Given the description of an element on the screen output the (x, y) to click on. 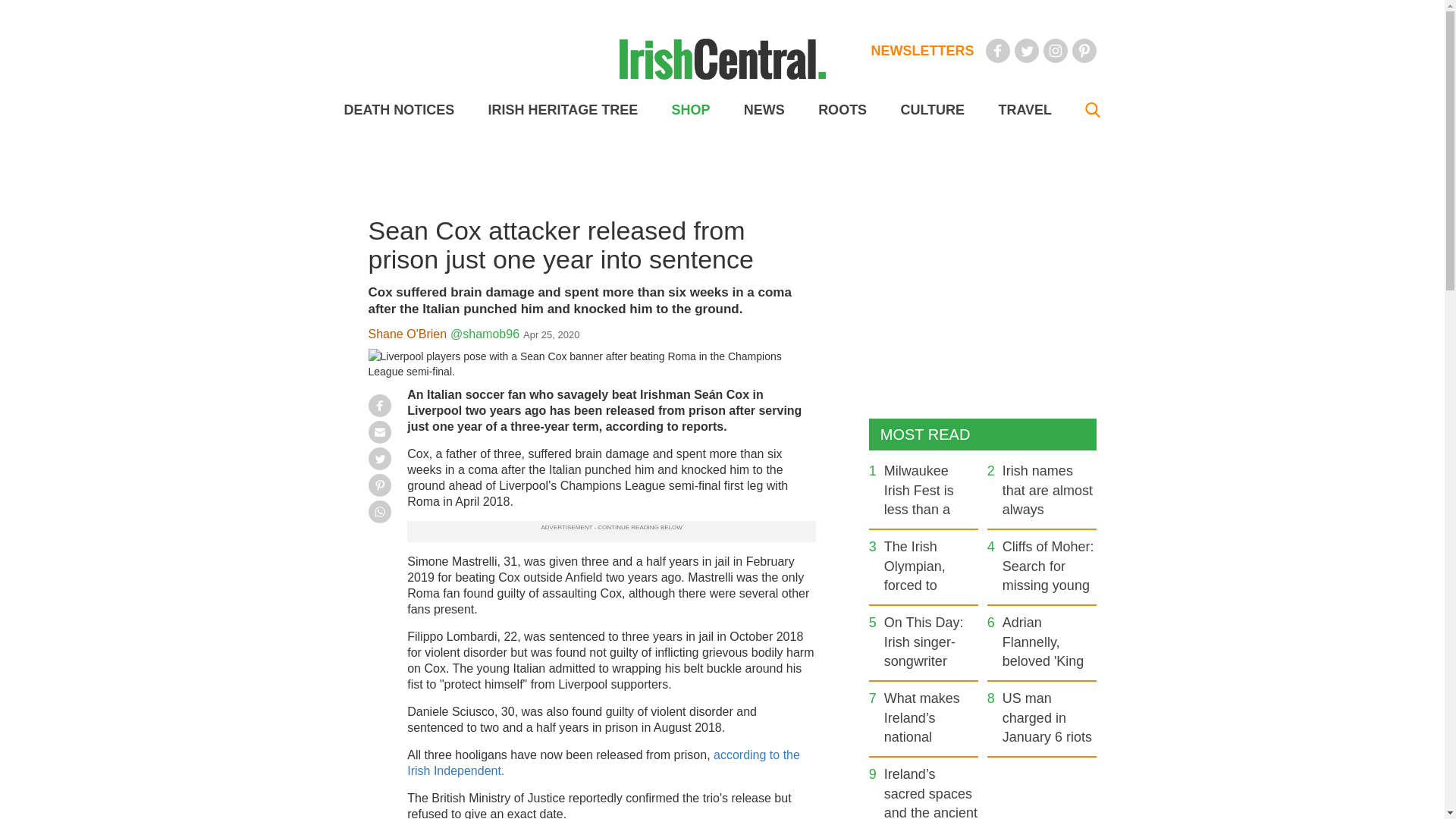
NEWSLETTERS (922, 50)
CULTURE (931, 109)
NEWS (764, 109)
TRAVEL (1024, 109)
IRISH HERITAGE TREE (562, 109)
SHOP (690, 109)
DEATH NOTICES (398, 109)
ROOTS (842, 109)
